Given the description of an element on the screen output the (x, y) to click on. 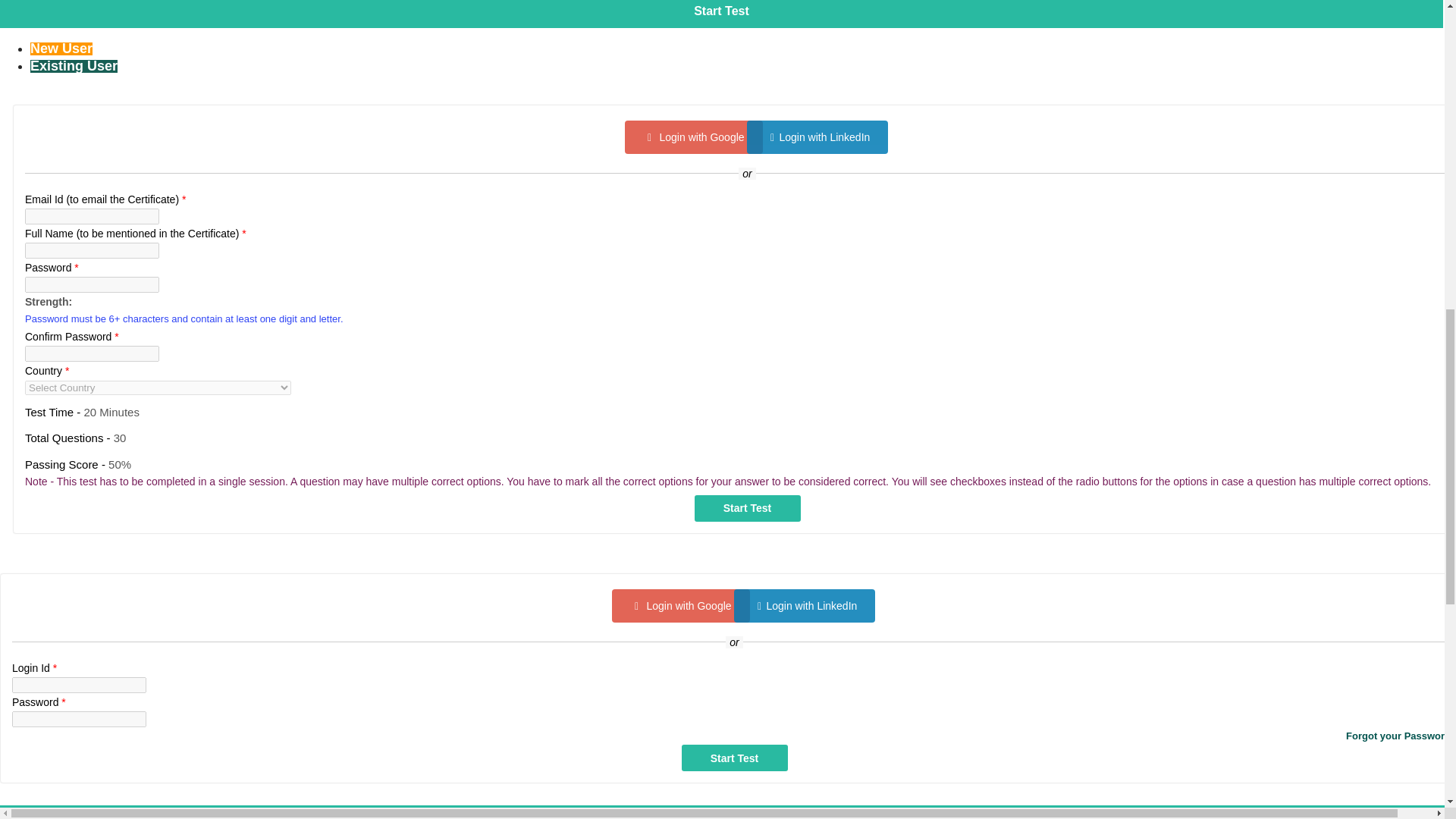
New User (61, 48)
Login with Google (680, 605)
Start Test (747, 508)
Get new password (733, 736)
Login with Google (693, 136)
Login with LinkedIn (817, 136)
Forgot your Password? (733, 736)
Start Test (734, 757)
Start Test (734, 757)
Start Test (747, 508)
Existing User (73, 65)
Start Test (747, 508)
Login with LinkedIn (804, 605)
